Given the description of an element on the screen output the (x, y) to click on. 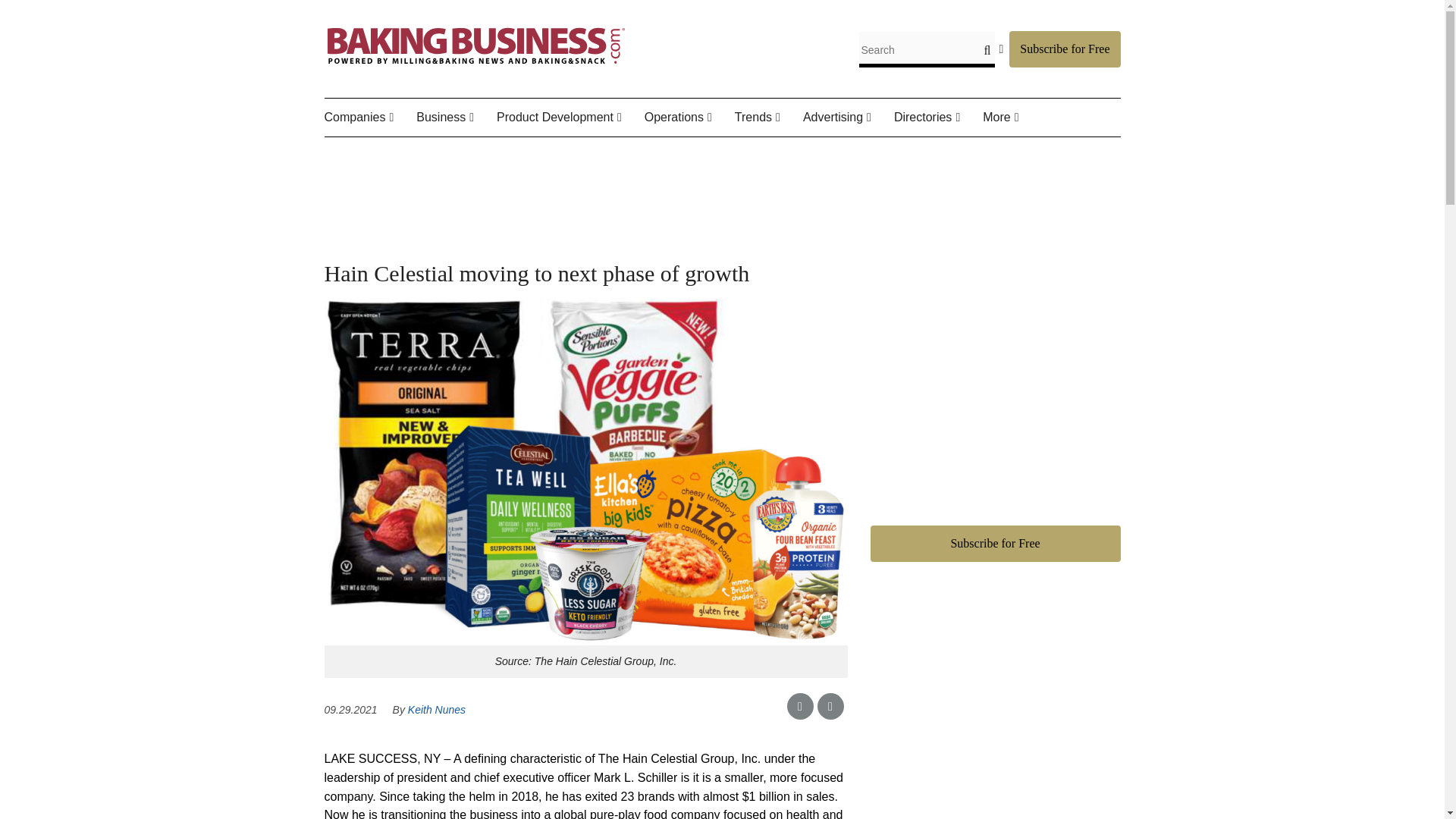
Milling (742, 153)
Product Development (570, 117)
People (419, 153)
Food Service (413, 153)
Equipment (720, 153)
Facilities (727, 153)
Financial Performance (500, 163)
Mergers and Acquisitions (518, 163)
Market Insights (509, 153)
Subscribe for Free (1064, 49)
